Given the description of an element on the screen output the (x, y) to click on. 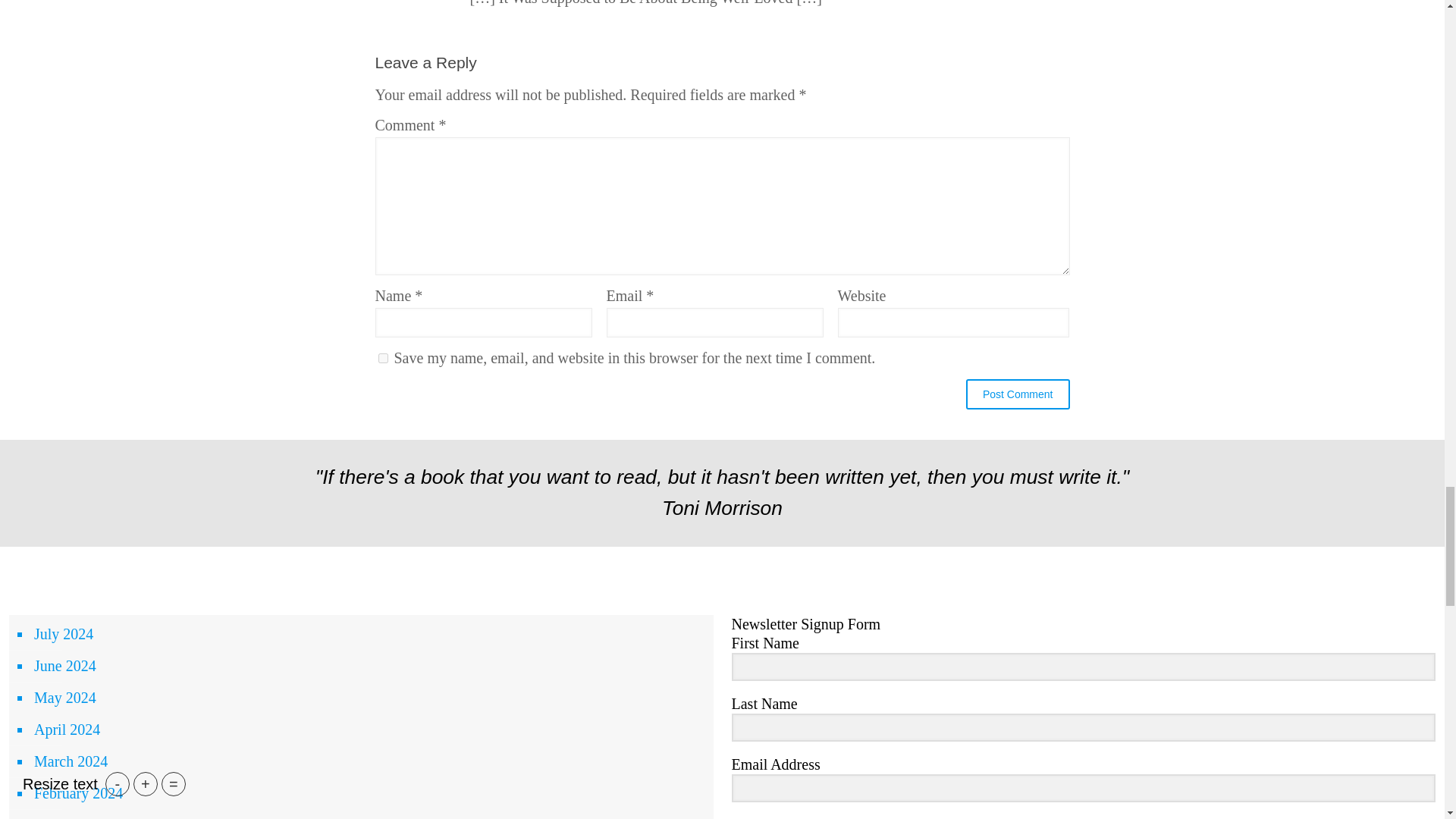
yes (382, 357)
Post Comment (1018, 394)
